Given the description of an element on the screen output the (x, y) to click on. 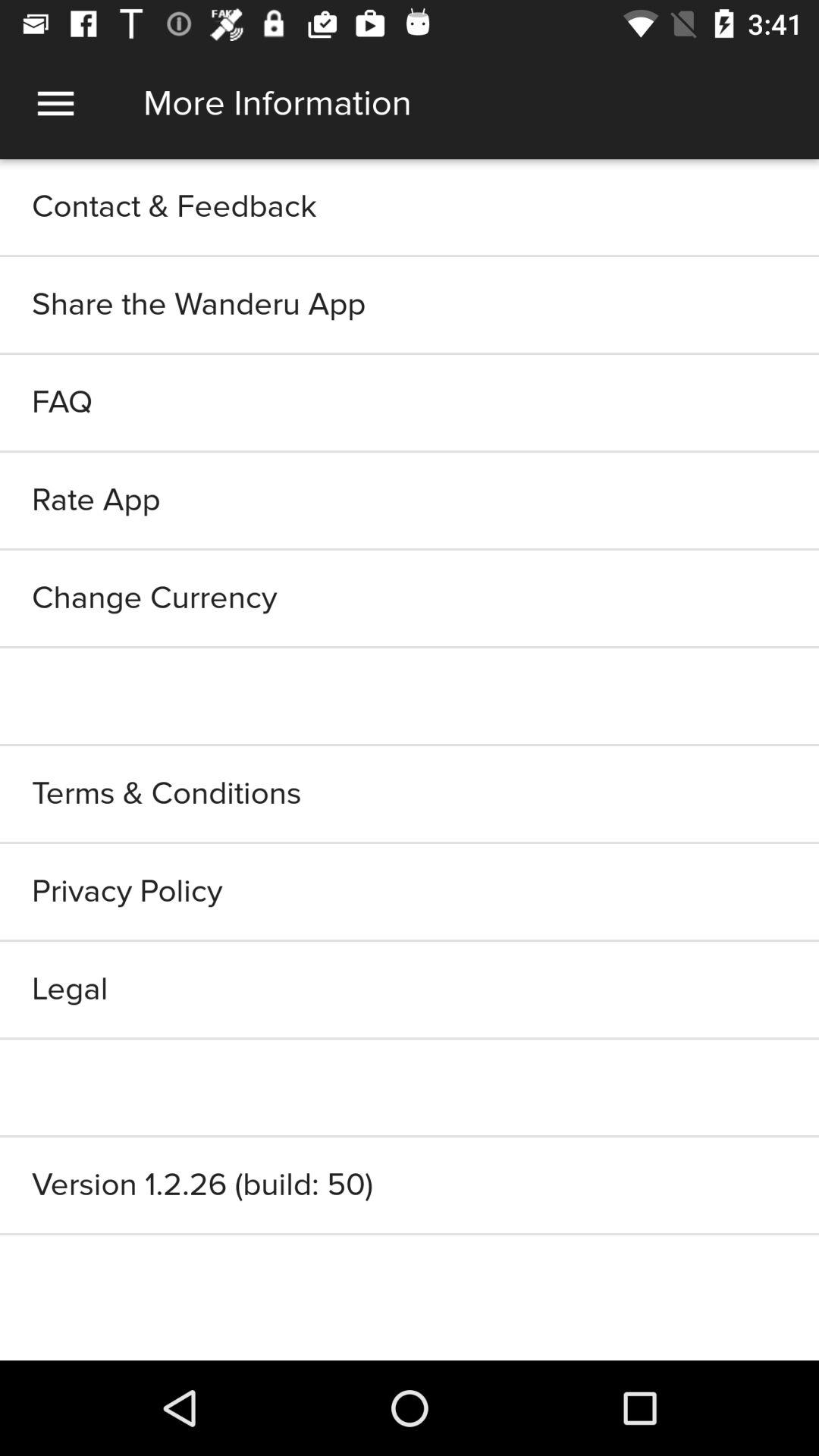
jump until the faq (409, 402)
